Given the description of an element on the screen output the (x, y) to click on. 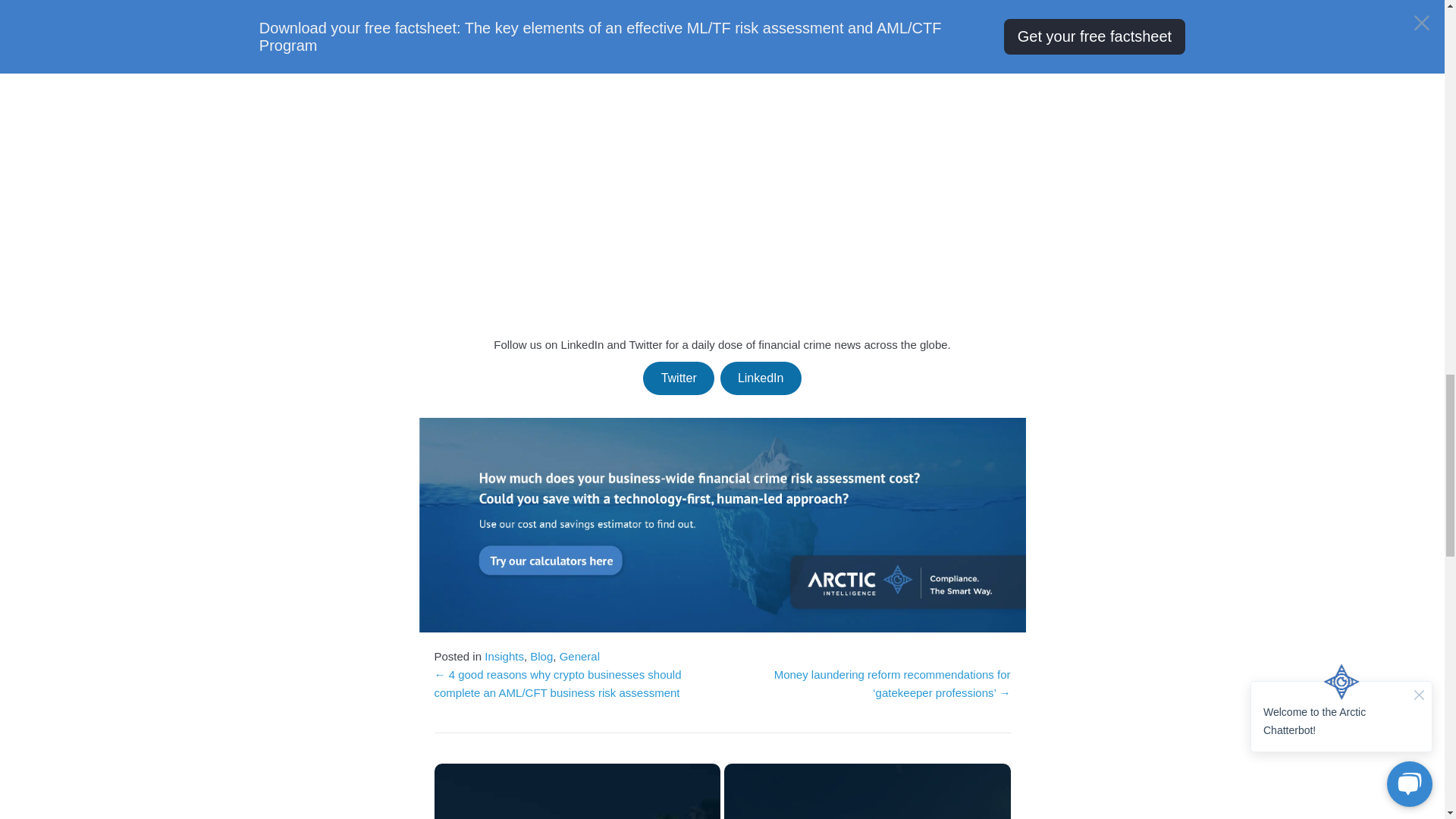
cost calculator banner (722, 523)
